Given the description of an element on the screen output the (x, y) to click on. 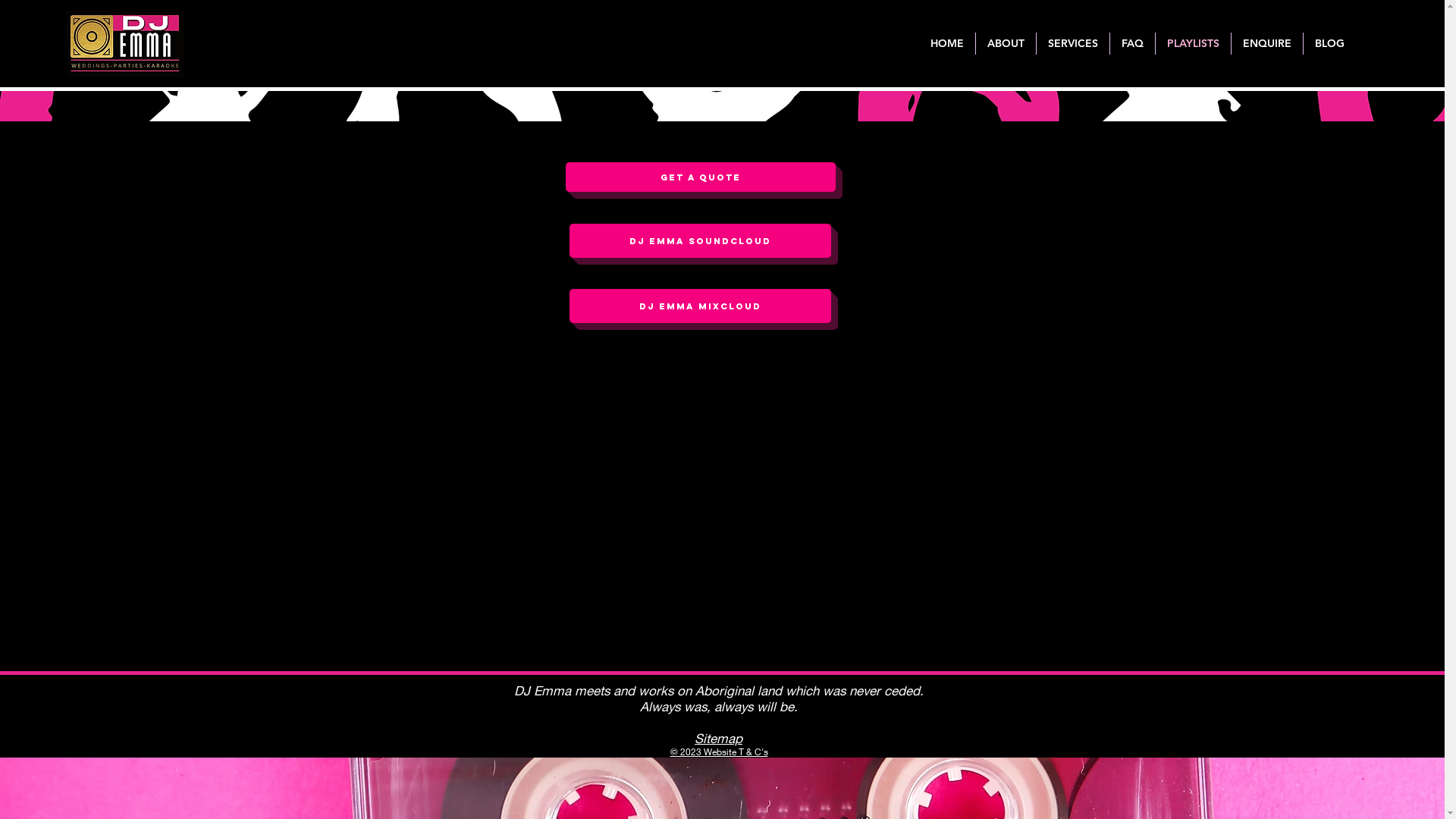
dj emma soundcloud Element type: text (699, 240)
ABOUT Element type: text (1005, 43)
dj emma mixcloud Element type: text (699, 305)
ENQUIRE Element type: text (1266, 43)
Sitemap Element type: text (718, 738)
BLOG Element type: text (1329, 43)
Get a quote Element type: text (700, 176)
HOME Element type: text (947, 43)
PLAYLISTS Element type: text (1192, 43)
